Given the description of an element on the screen output the (x, y) to click on. 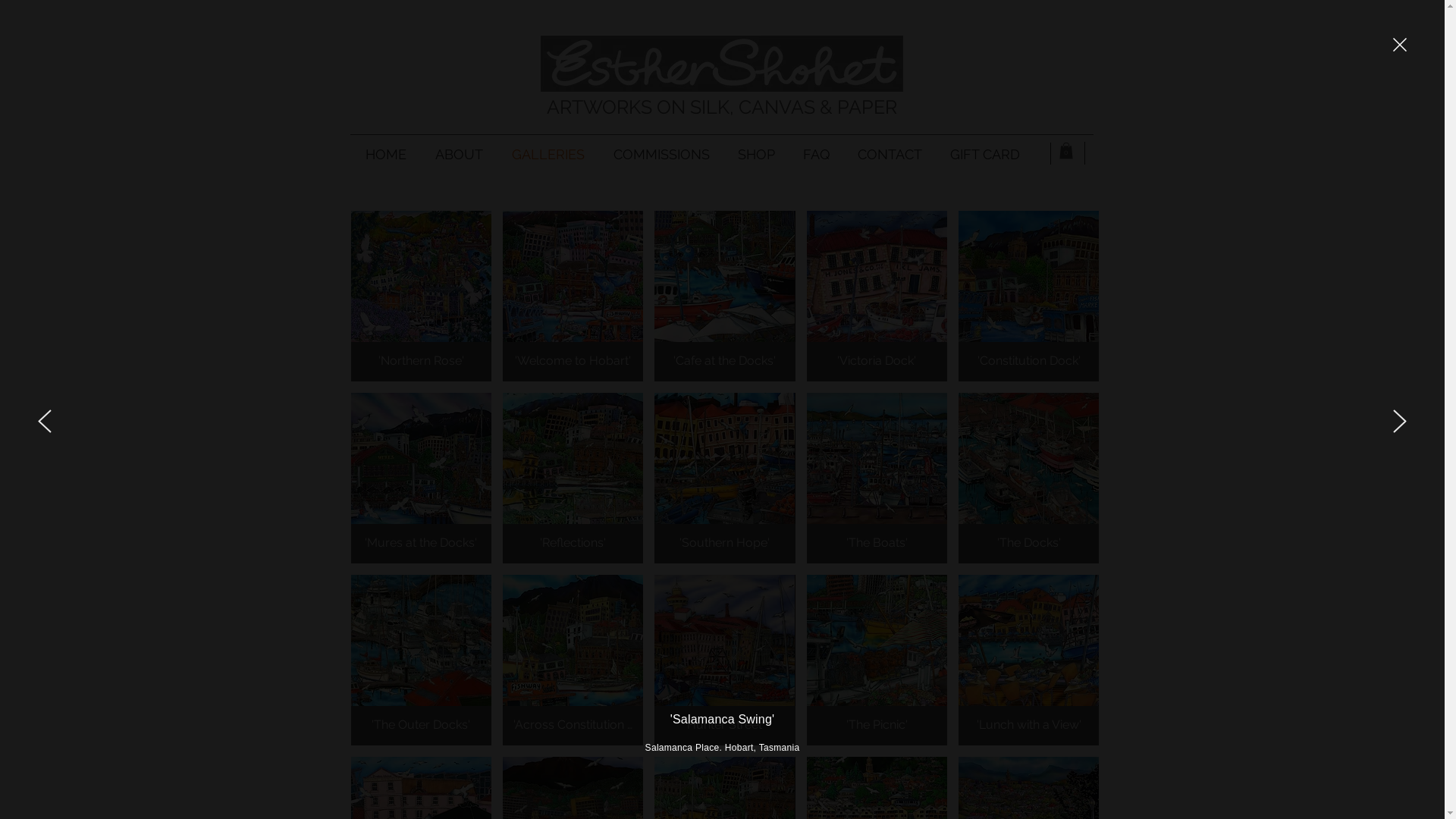
CONTACT Element type: text (889, 154)
GALLERIES Element type: text (548, 154)
GIFT CARD Element type: text (984, 154)
ARTWORKS ON SILK, CANVAS & PAPER Element type: text (721, 106)
SHOP Element type: text (755, 154)
FAQ Element type: text (815, 154)
0 Element type: text (1065, 150)
HOME Element type: text (385, 154)
ABOUT Element type: text (458, 154)
COMMISSIONS Element type: text (661, 154)
